Given the description of an element on the screen output the (x, y) to click on. 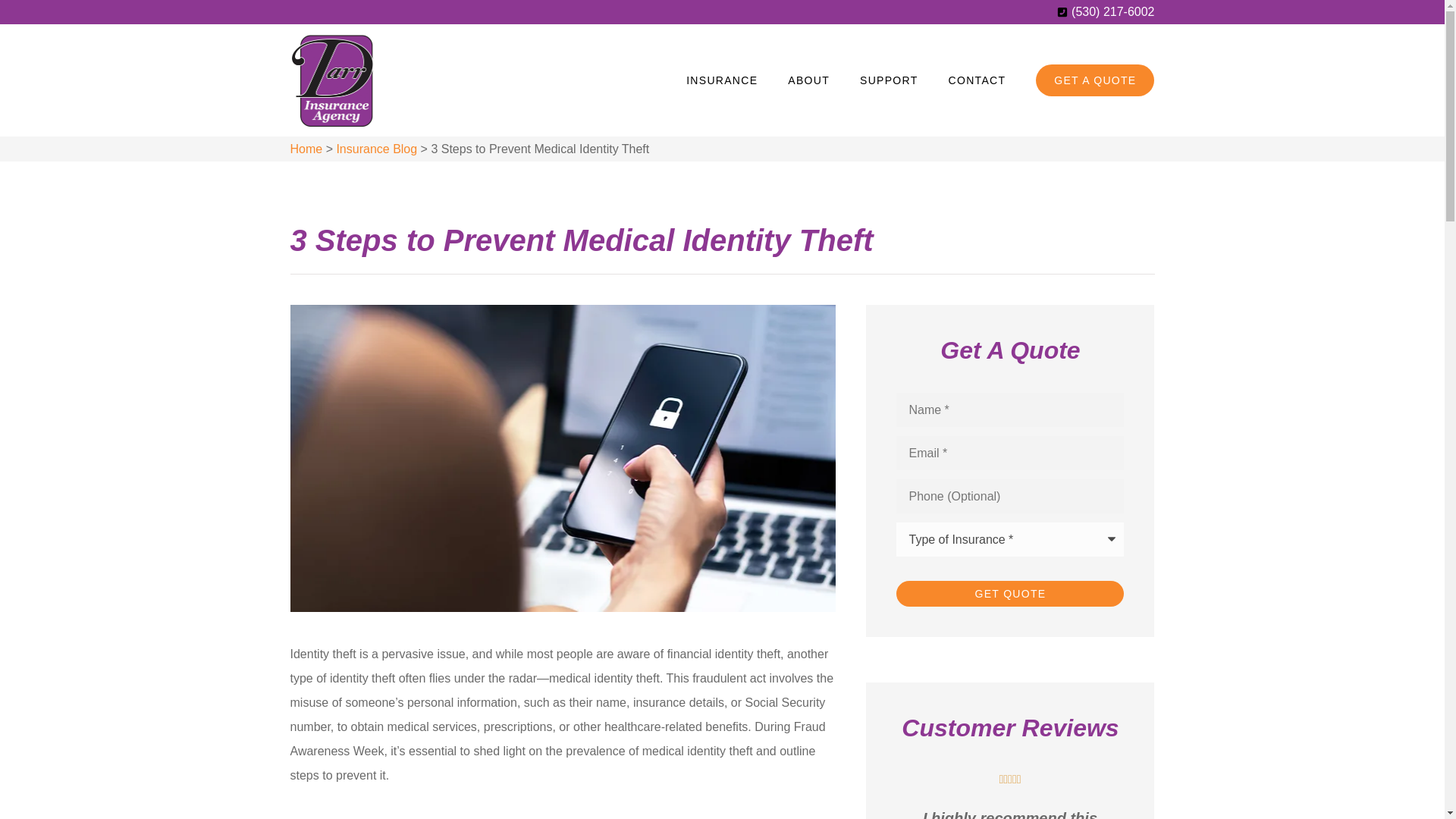
SUPPORT (888, 80)
ABOUT (808, 80)
CONTACT (977, 80)
INSURANCE (722, 80)
Get Quote (1010, 593)
